Given the description of an element on the screen output the (x, y) to click on. 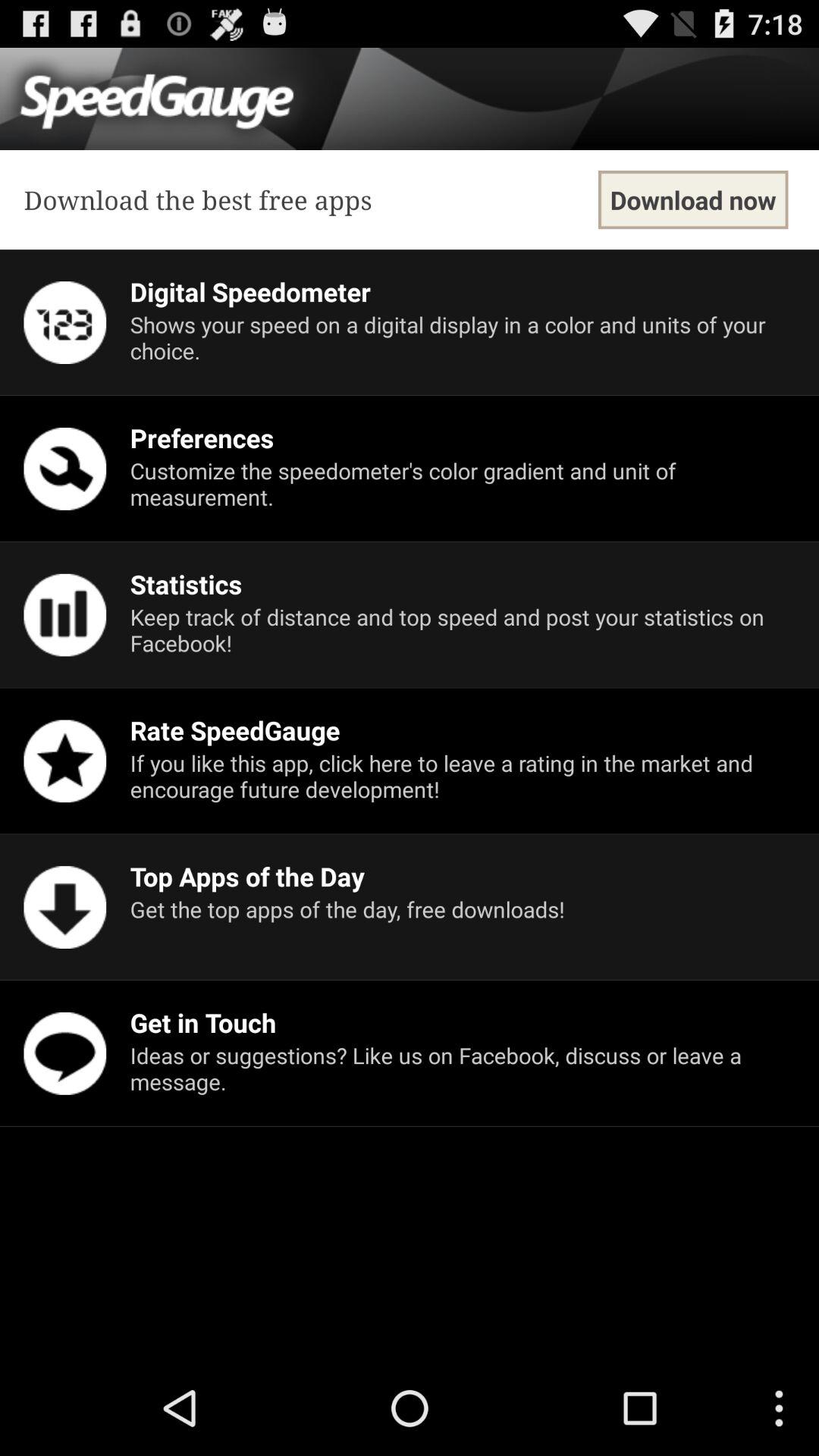
tap item at the top right corner (693, 199)
